Given the description of an element on the screen output the (x, y) to click on. 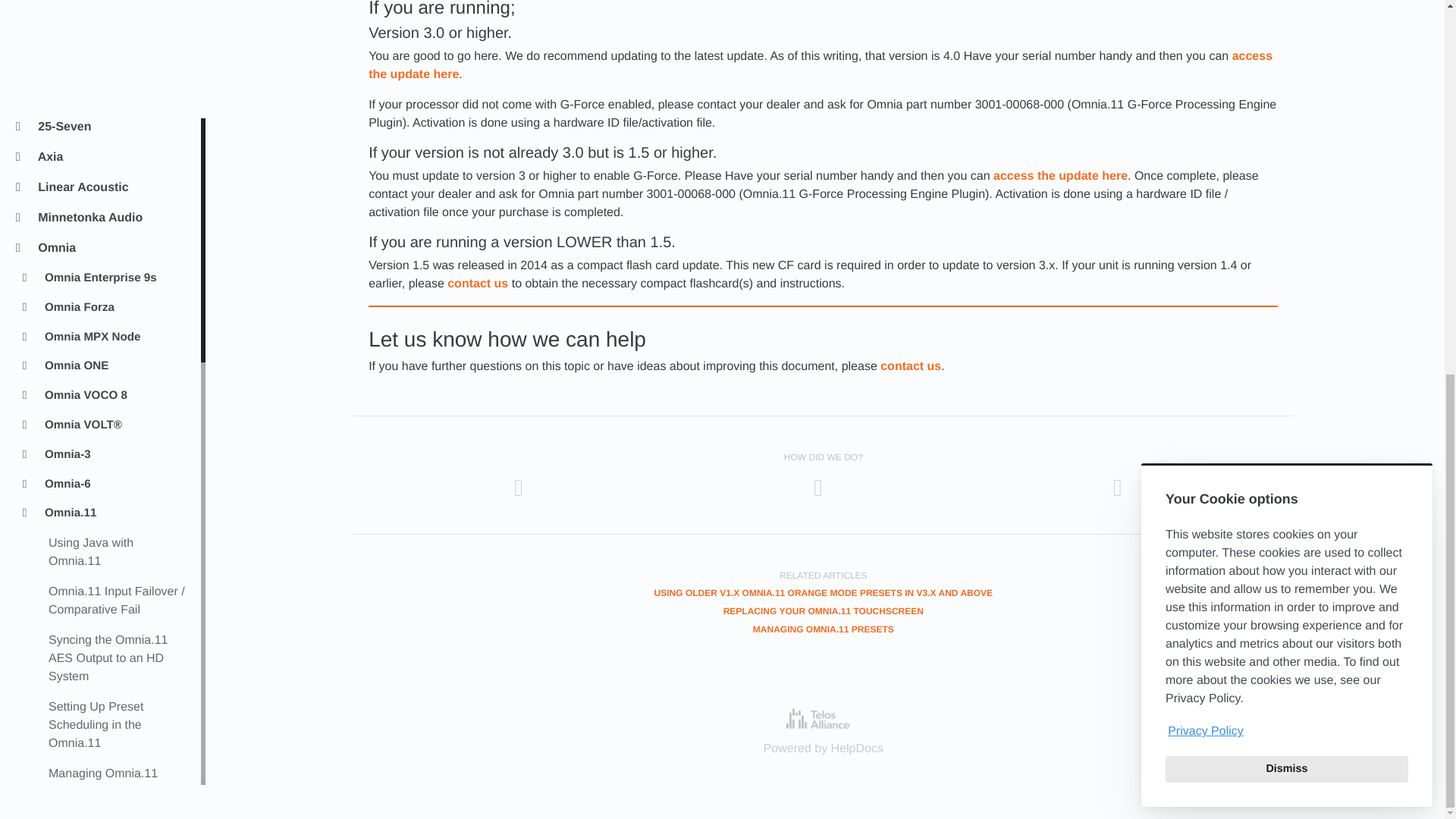
Dismiss (1286, 81)
Privacy Policy (1286, 43)
Powered by HelpDocs (822, 748)
Powered by HelpDocs (823, 719)
